Given the description of an element on the screen output the (x, y) to click on. 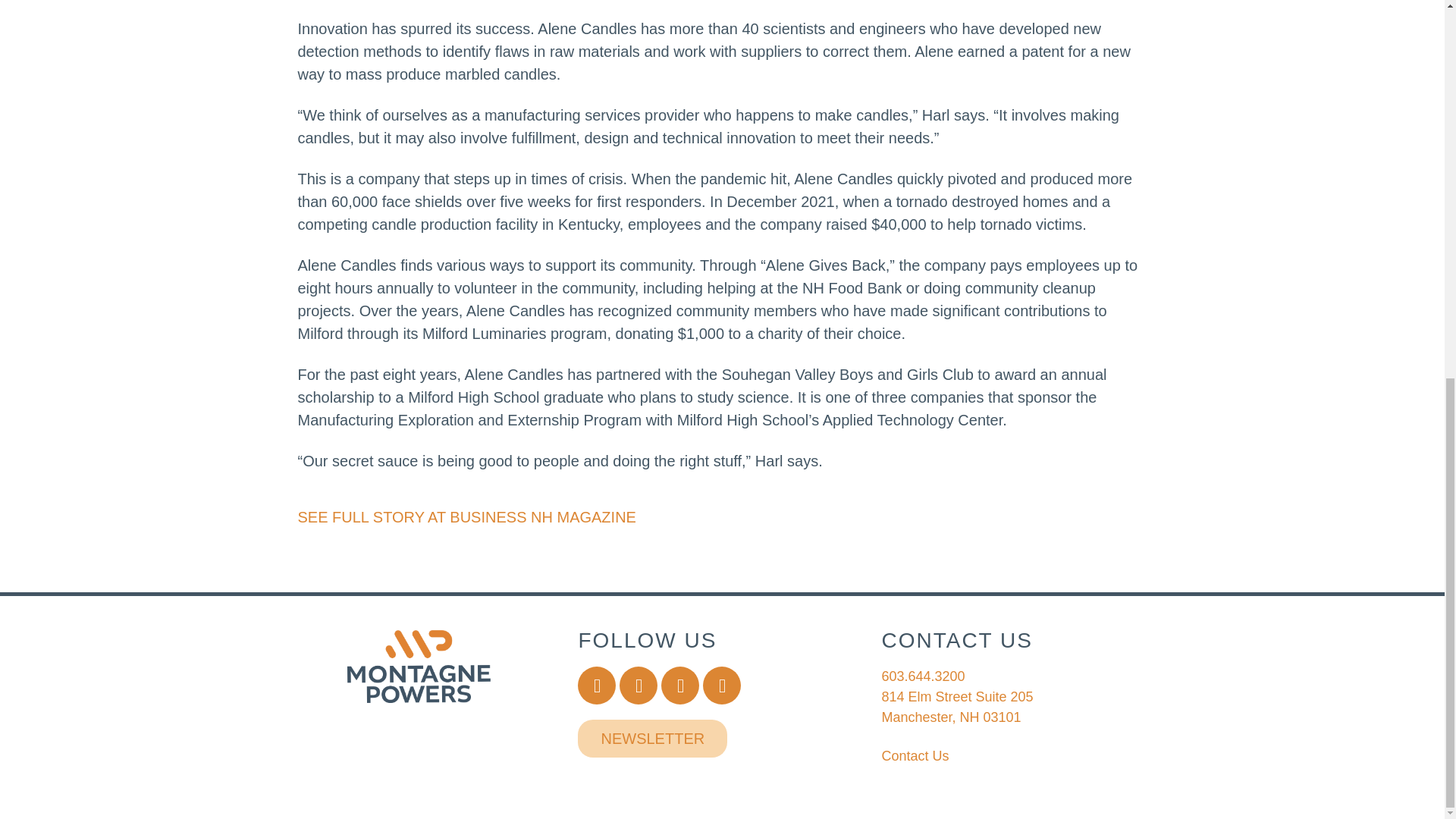
SEE FULL STORY AT BUSINESS NH MAGAZINE (465, 516)
Contact Us (914, 755)
NEWSLETTER (956, 706)
603.644.3200 (652, 738)
